Given the description of an element on the screen output the (x, y) to click on. 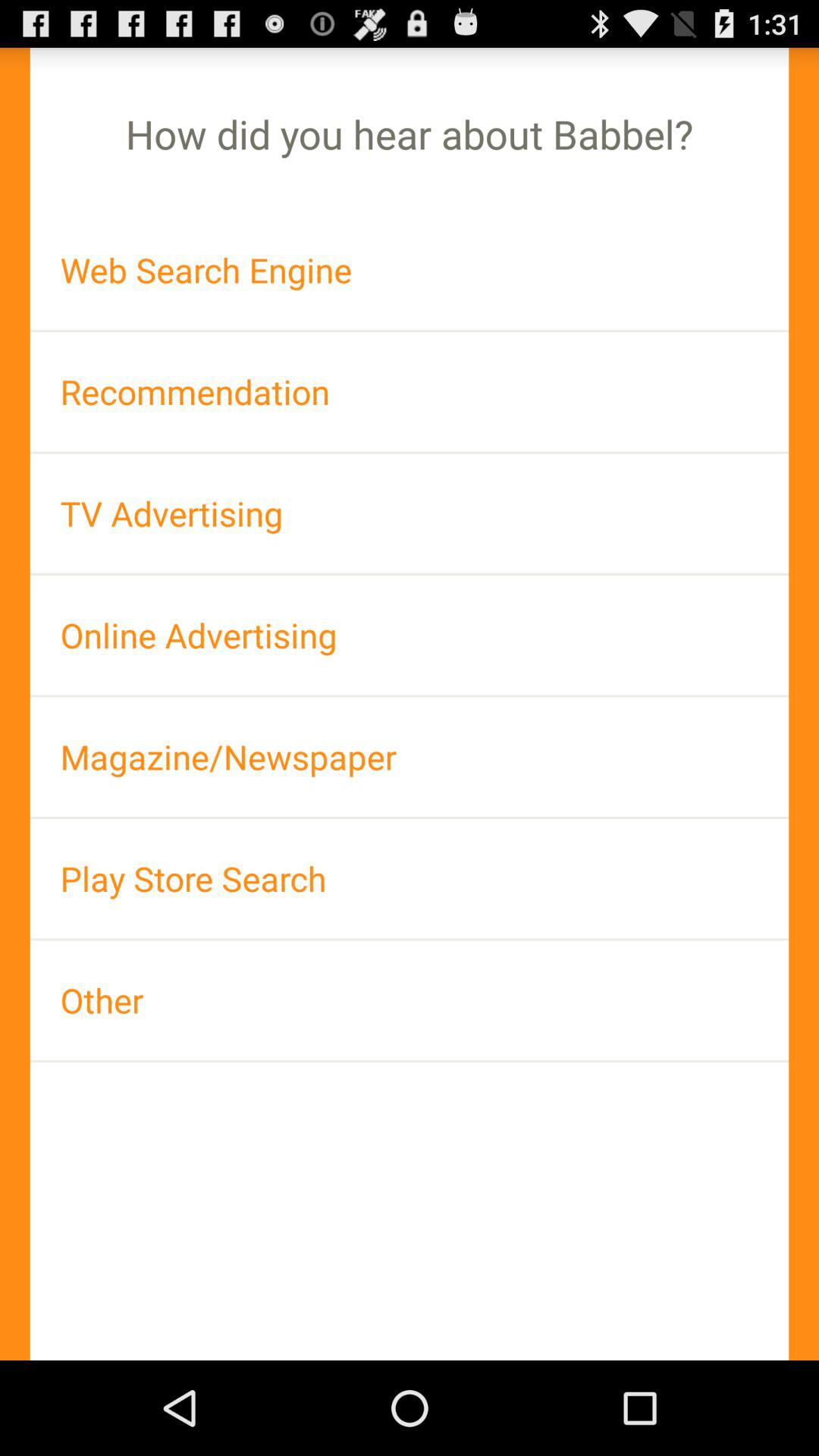
jump until the play store search item (409, 878)
